Given the description of an element on the screen output the (x, y) to click on. 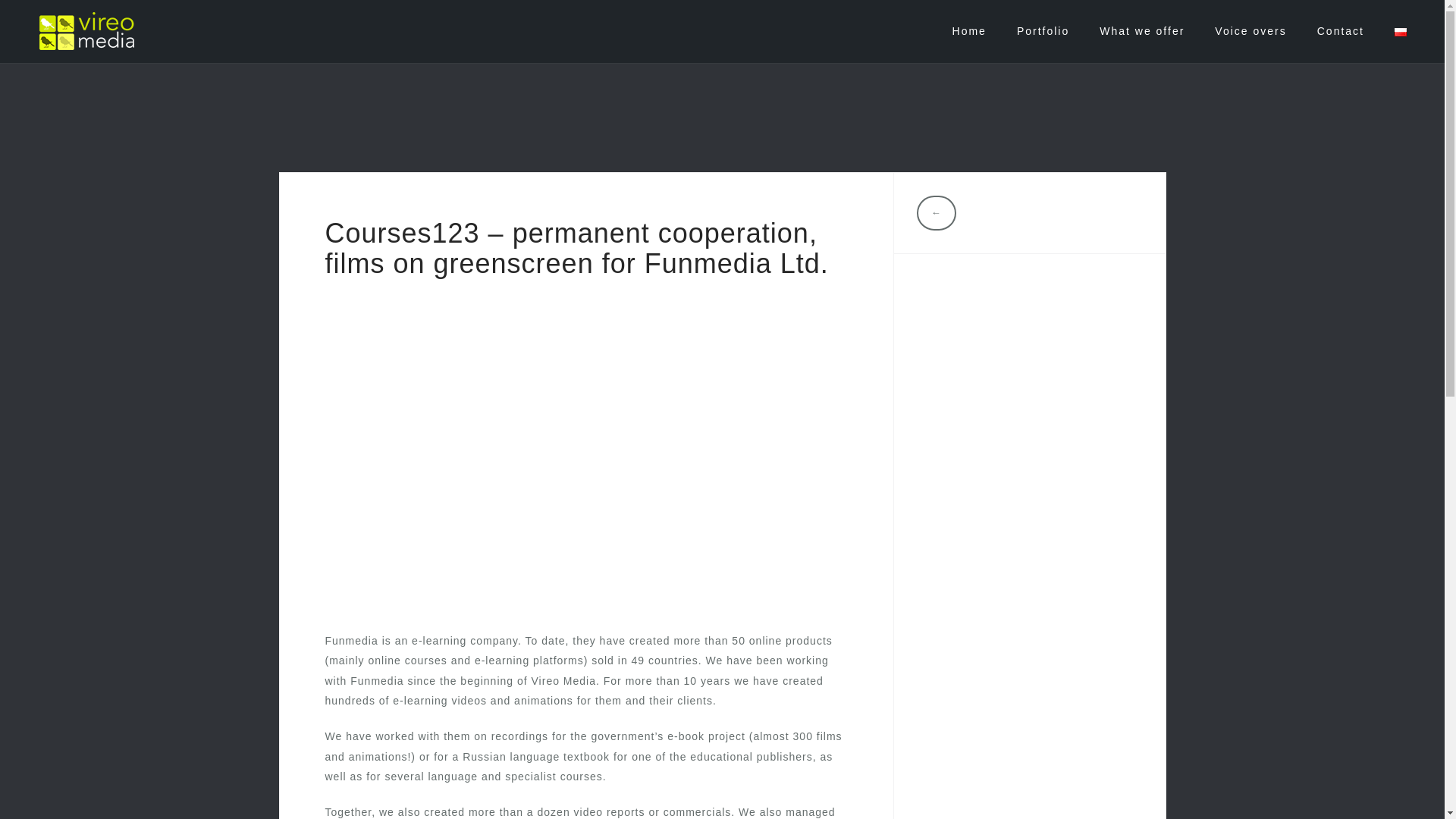
Portfolio (1042, 31)
Home (969, 31)
Contact (1340, 31)
What we offer (1142, 31)
Voice overs (1249, 31)
